Given the description of an element on the screen output the (x, y) to click on. 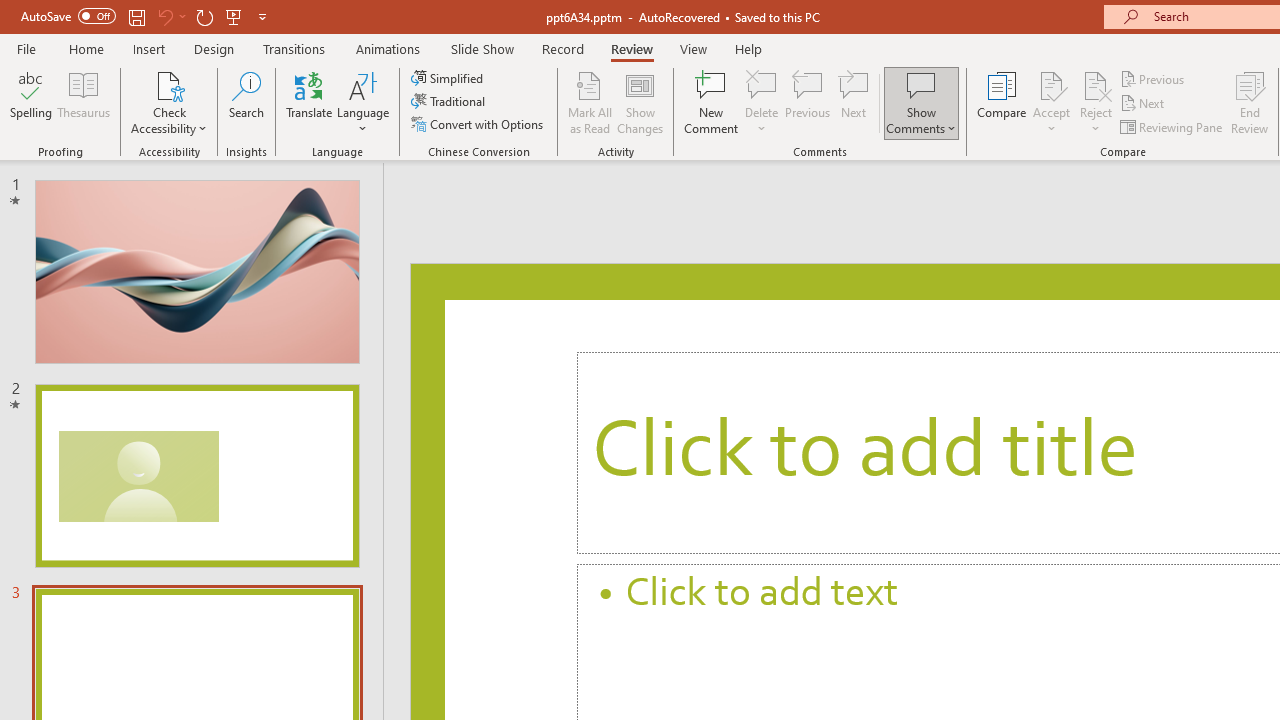
Simplified (449, 78)
Accept Change (1051, 84)
Convert with Options... (479, 124)
Thesaurus... (83, 102)
New Comment (711, 102)
Reject Change (1096, 84)
End Review (1249, 102)
